Given the description of an element on the screen output the (x, y) to click on. 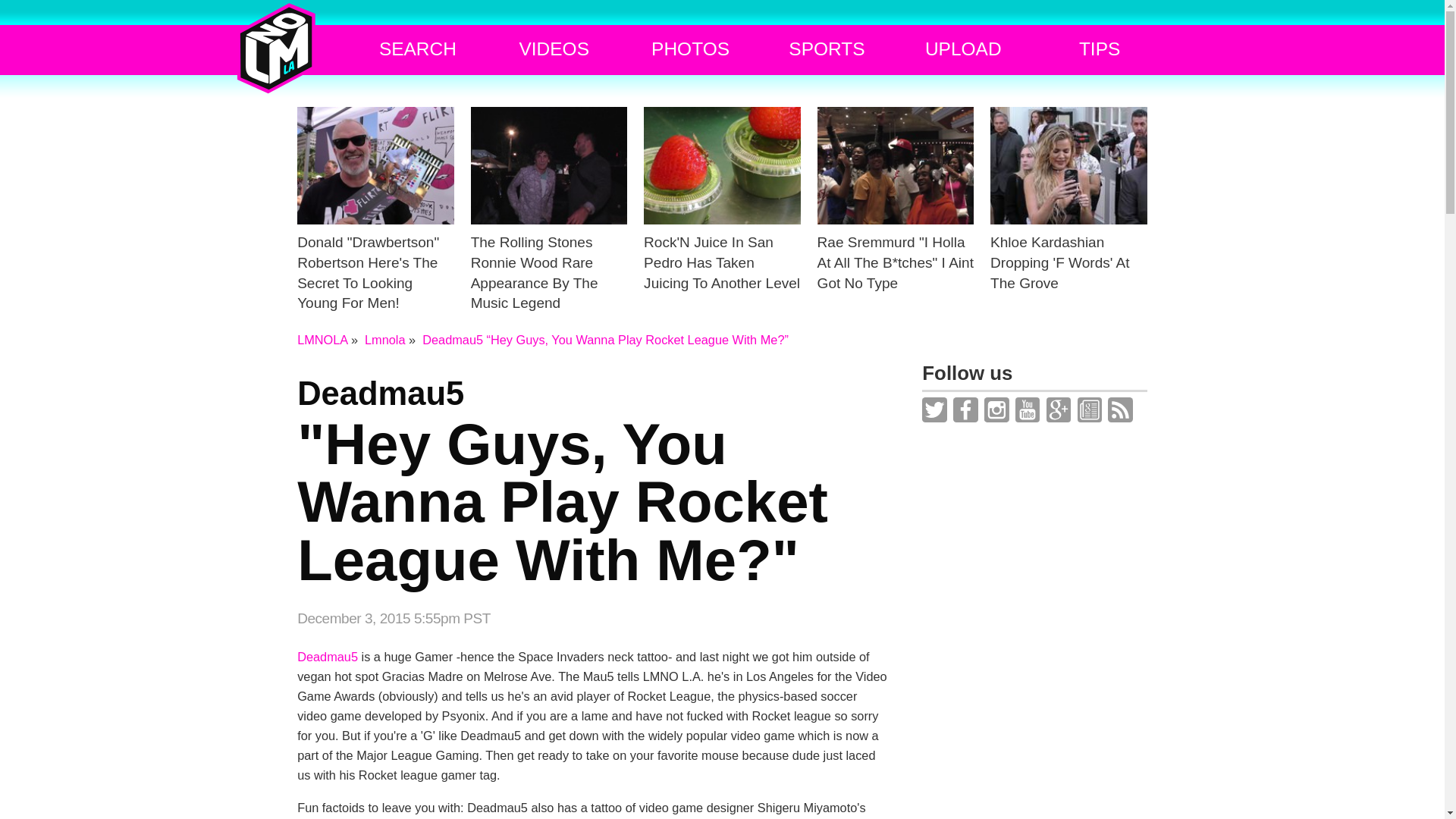
UPLOAD (963, 49)
LMNOLA (322, 339)
Deadmau5 (327, 656)
LMNO.LA (275, 48)
VIDEOS (593, 482)
Lmnola (553, 49)
RockN Juice In San Pedro Has Taken Juicing To Another Level (385, 339)
PHOTOS (721, 225)
